Given the description of an element on the screen output the (x, y) to click on. 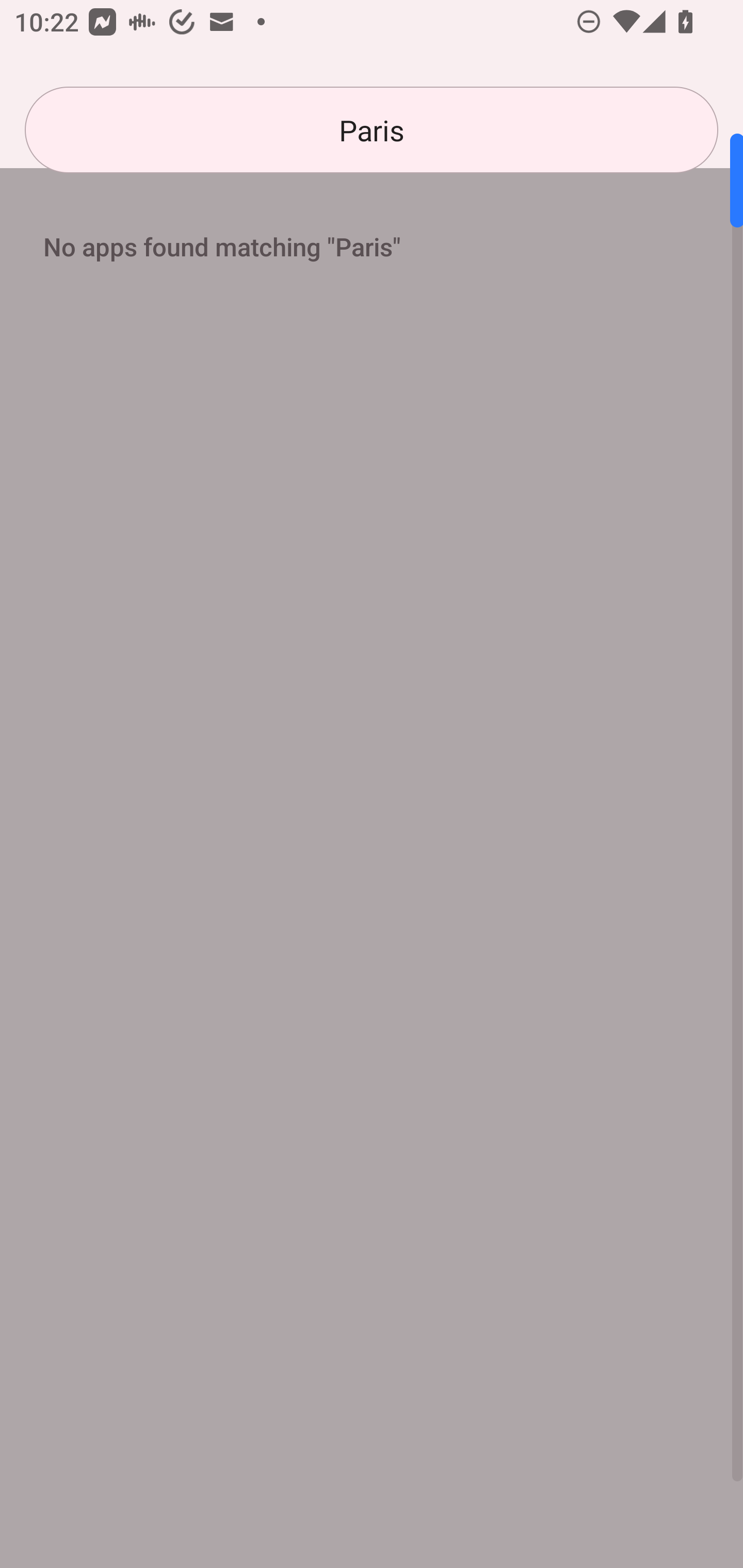
Paris (371, 130)
